Given the description of an element on the screen output the (x, y) to click on. 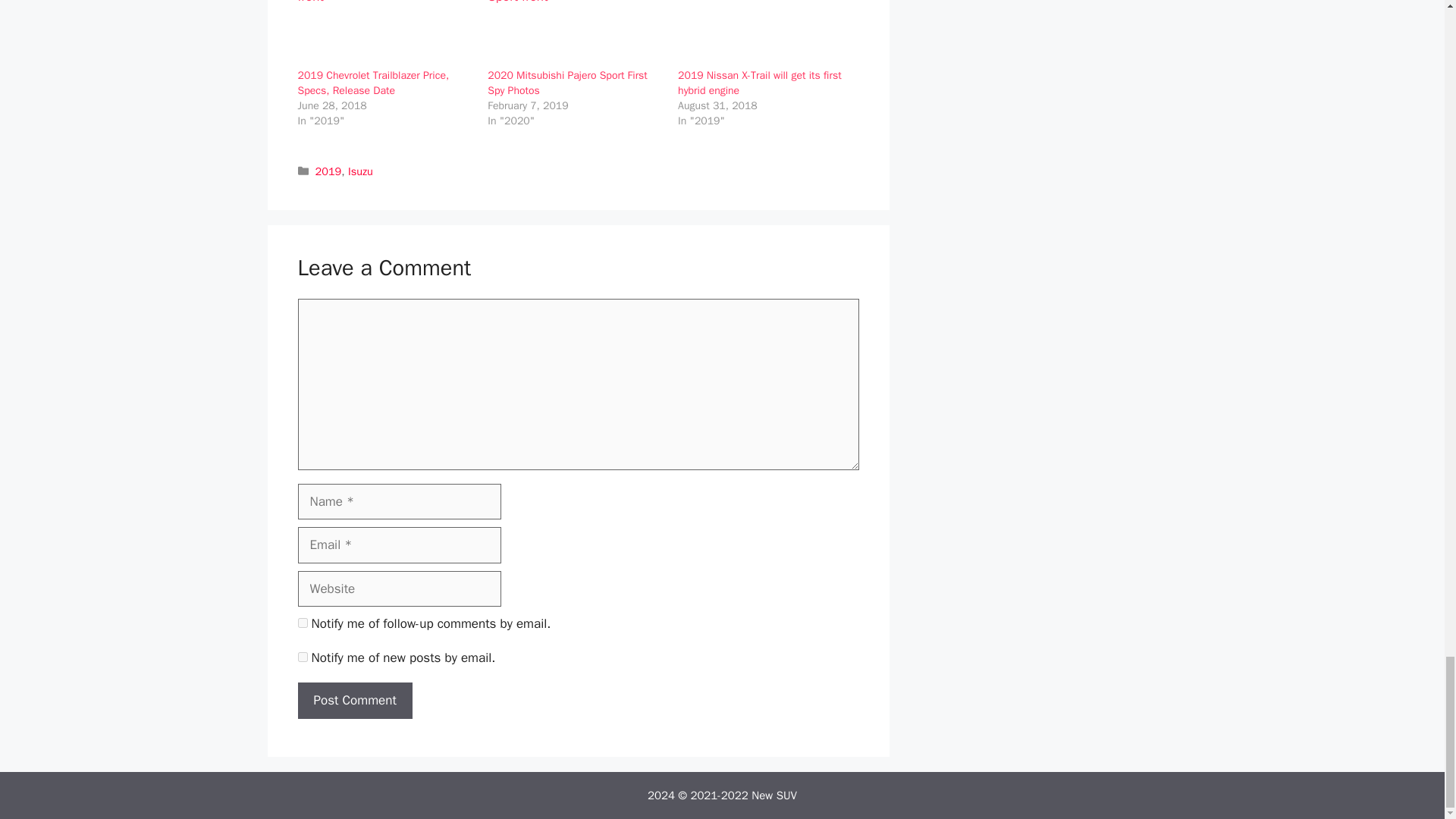
2019 Chevrolet Trailblazer Price, Specs, Release Date (372, 82)
2020 Mitsubishi Pajero Sport First Spy Photos (567, 82)
2019 Chevrolet Trailblazer Price, Specs, Release Date (372, 82)
2019 Chevrolet Trailblazer Price, Specs, Release Date (384, 33)
Post Comment (354, 700)
subscribe (302, 623)
2020 Mitsubishi Pajero Sport First Spy Photos (574, 33)
subscribe (302, 656)
2020 Mitsubishi Pajero Sport First Spy Photos (567, 82)
